Given the description of an element on the screen output the (x, y) to click on. 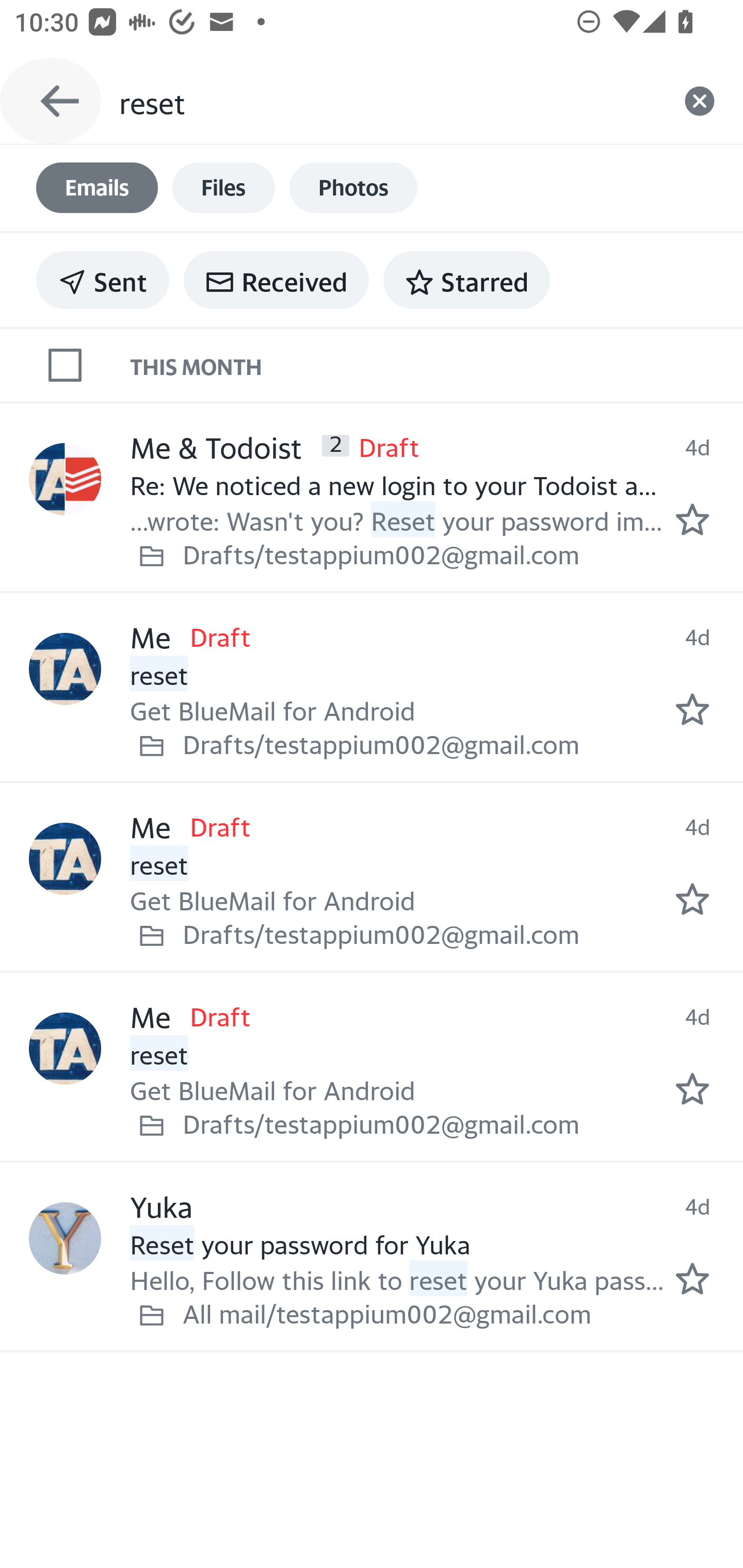
Back (50, 101)
reset (387, 101)
Clear (699, 101)
Emails (96, 188)
Files (223, 188)
Photos (353, 188)
Sent (102, 279)
Received (276, 279)
Starred (466, 279)
THIS MONTH (436, 364)
Profile
Me & Todoist (64, 479)
Mark as starred. (692, 519)
Profile
Me (64, 669)
Mark as starred. (692, 709)
Profile
Me (64, 859)
Mark as starred. (692, 899)
Profile
Me (64, 1048)
Mark as starred. (692, 1088)
Profile
Yuka (64, 1238)
Mark as starred. (692, 1278)
